Given the description of an element on the screen output the (x, y) to click on. 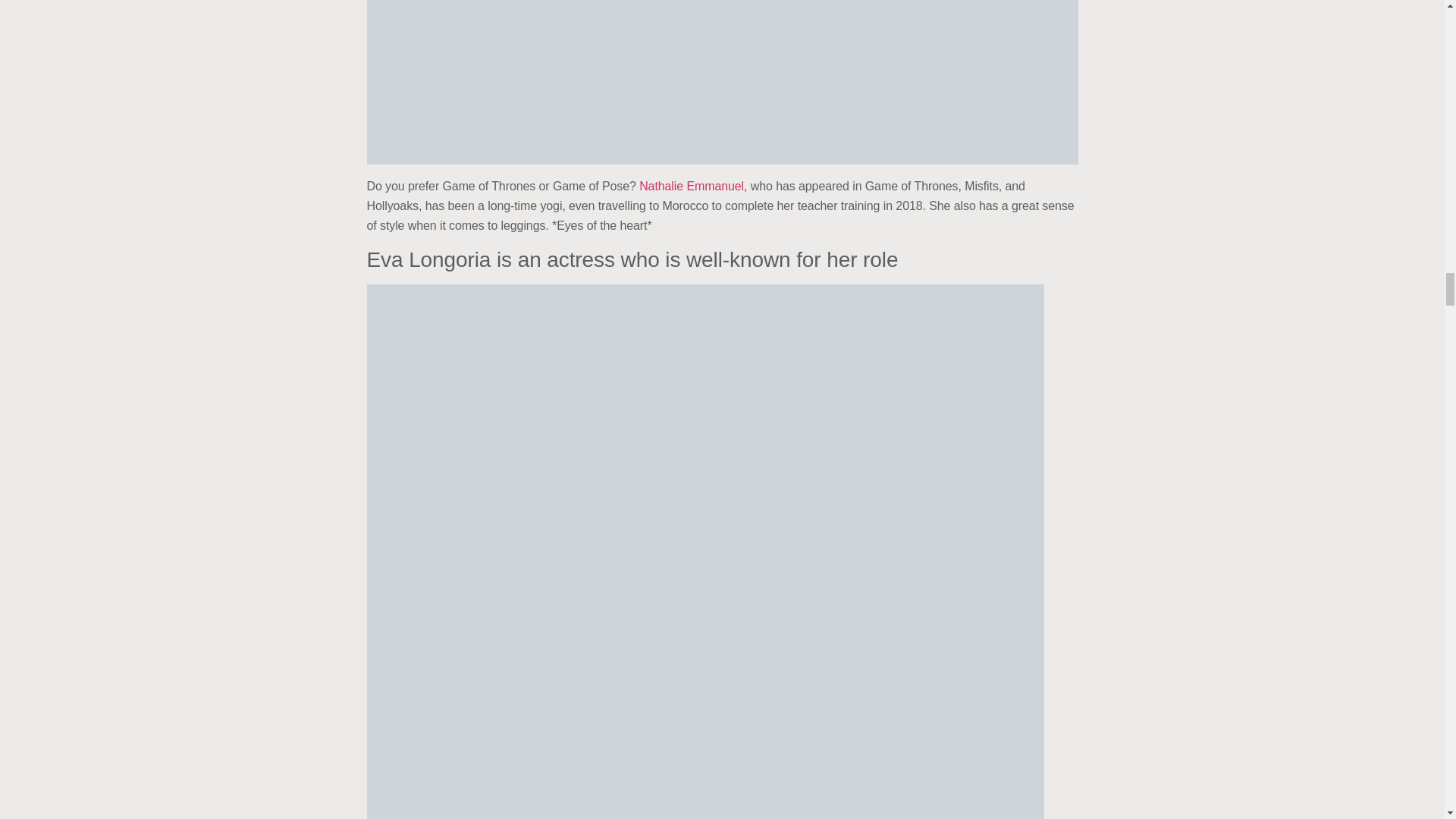
Nathalie Emmanuel (691, 185)
